Given the description of an element on the screen output the (x, y) to click on. 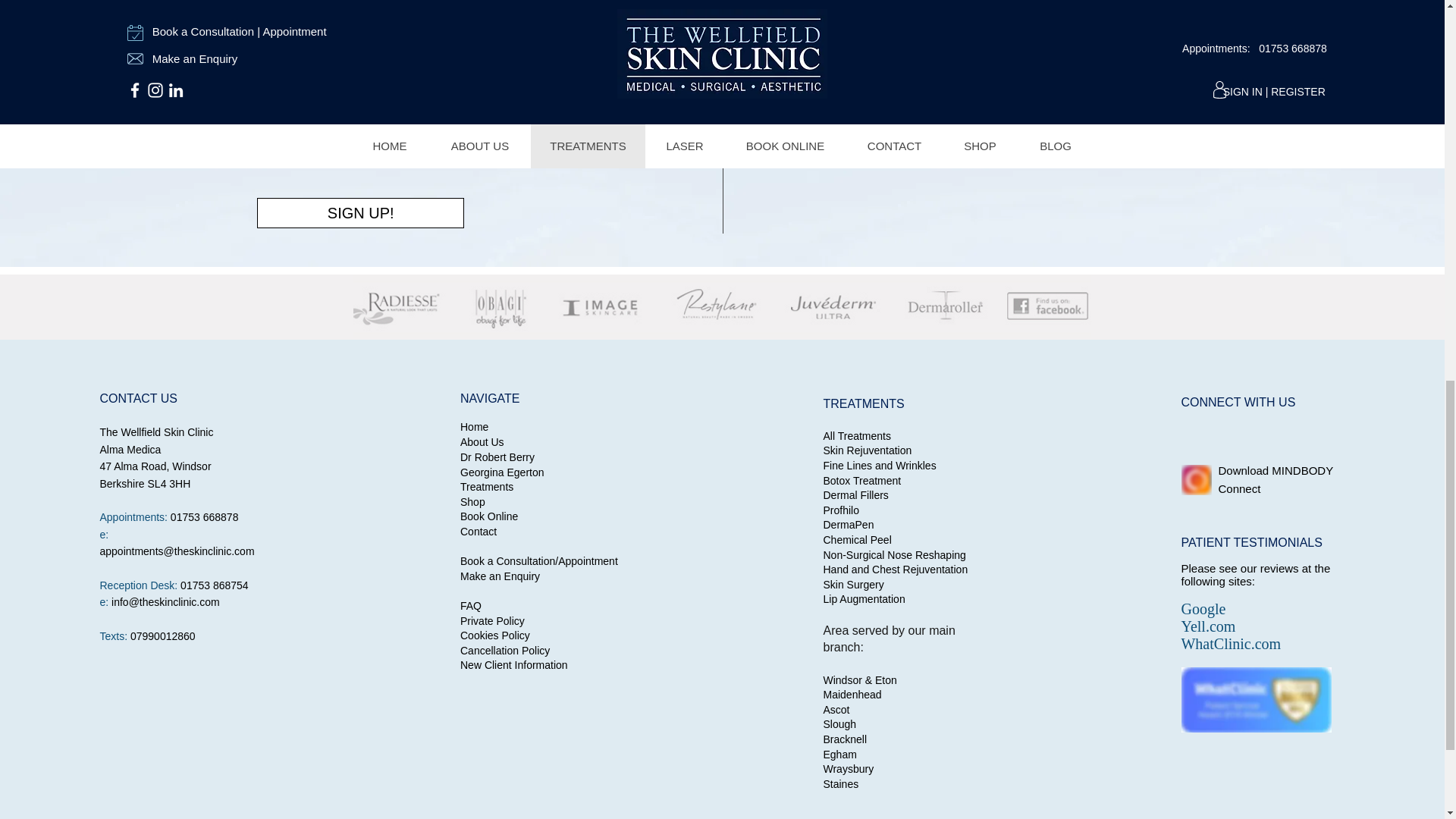
The Wellfield Skin Clinic (721, 306)
What Clinic Award Winner 2019 (1256, 699)
